Given the description of an element on the screen output the (x, y) to click on. 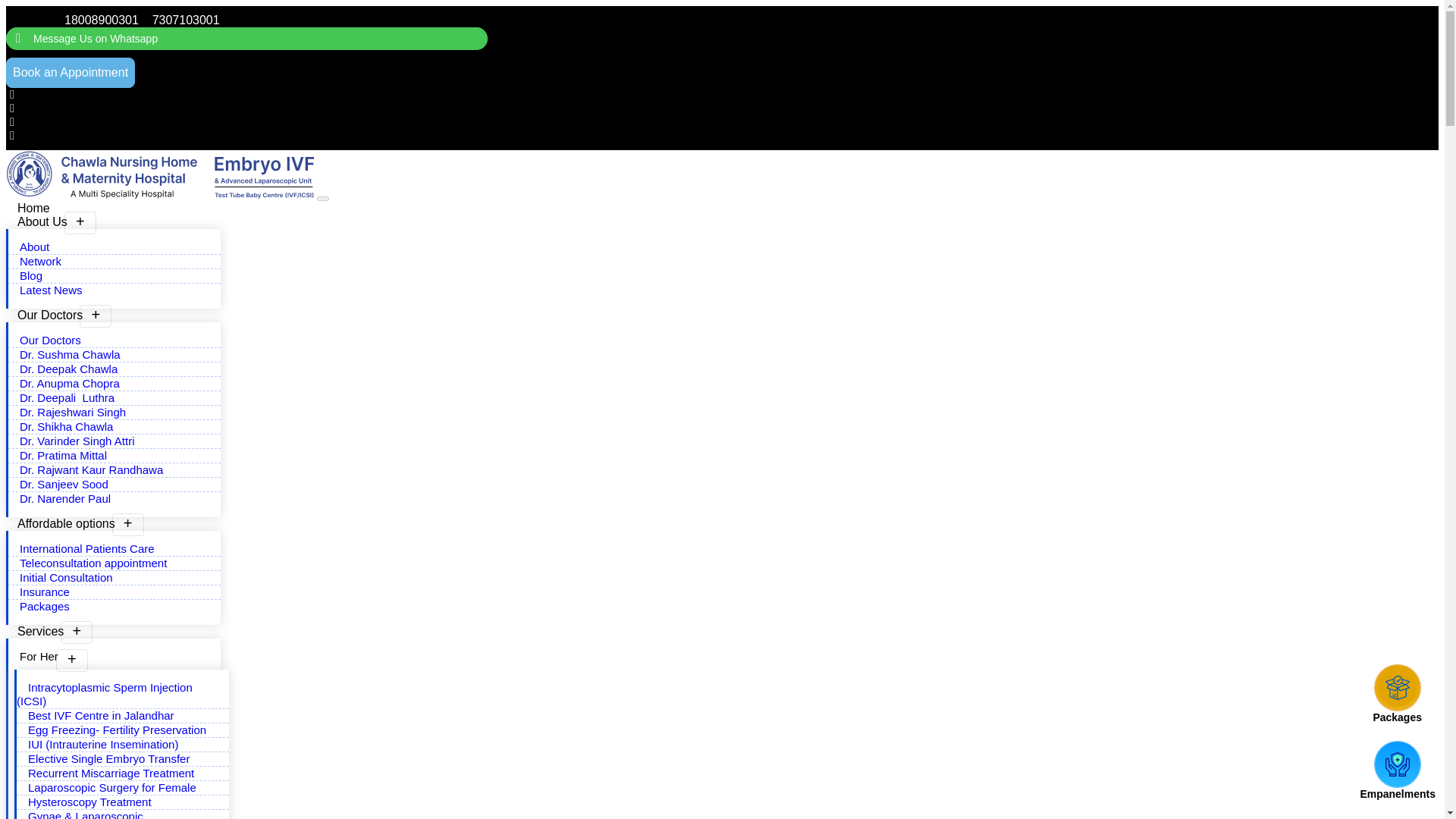
Dr. Anupma Chopra (69, 383)
Dr. Rajeshwari Singh (72, 411)
Dr. Varinder Singh Attri (76, 440)
Network (40, 261)
Our Doctors (50, 339)
For Her (50, 655)
Dr. Sushma Chawla (70, 354)
Dr. Deepak Chawla (68, 368)
Initial Consultation (65, 577)
Insurance (44, 591)
Dr. Narender Paul (66, 498)
Dr. Deepali Luthra (66, 397)
Dr. Shikha Chawla (65, 426)
Latest News (51, 289)
Best IVF Centre in Jalandhar (101, 714)
